Given the description of an element on the screen output the (x, y) to click on. 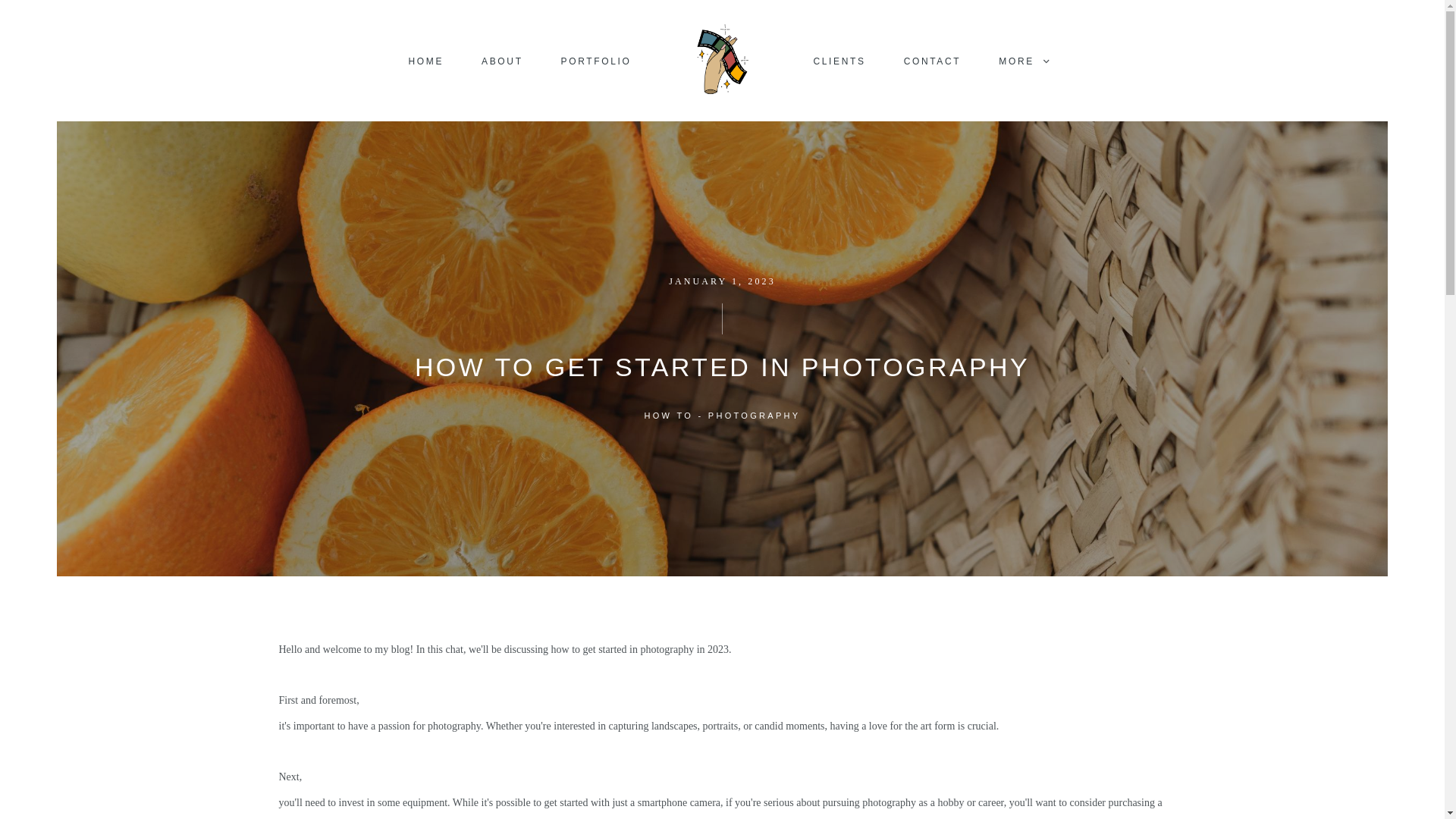
ABOUT (502, 61)
HOME (426, 61)
CONTACT (932, 61)
PORTFOLIO (595, 61)
MORE (1023, 61)
CLIENTS (839, 61)
HOW TO - PHOTOGRAPHY (722, 415)
